Given the description of an element on the screen output the (x, y) to click on. 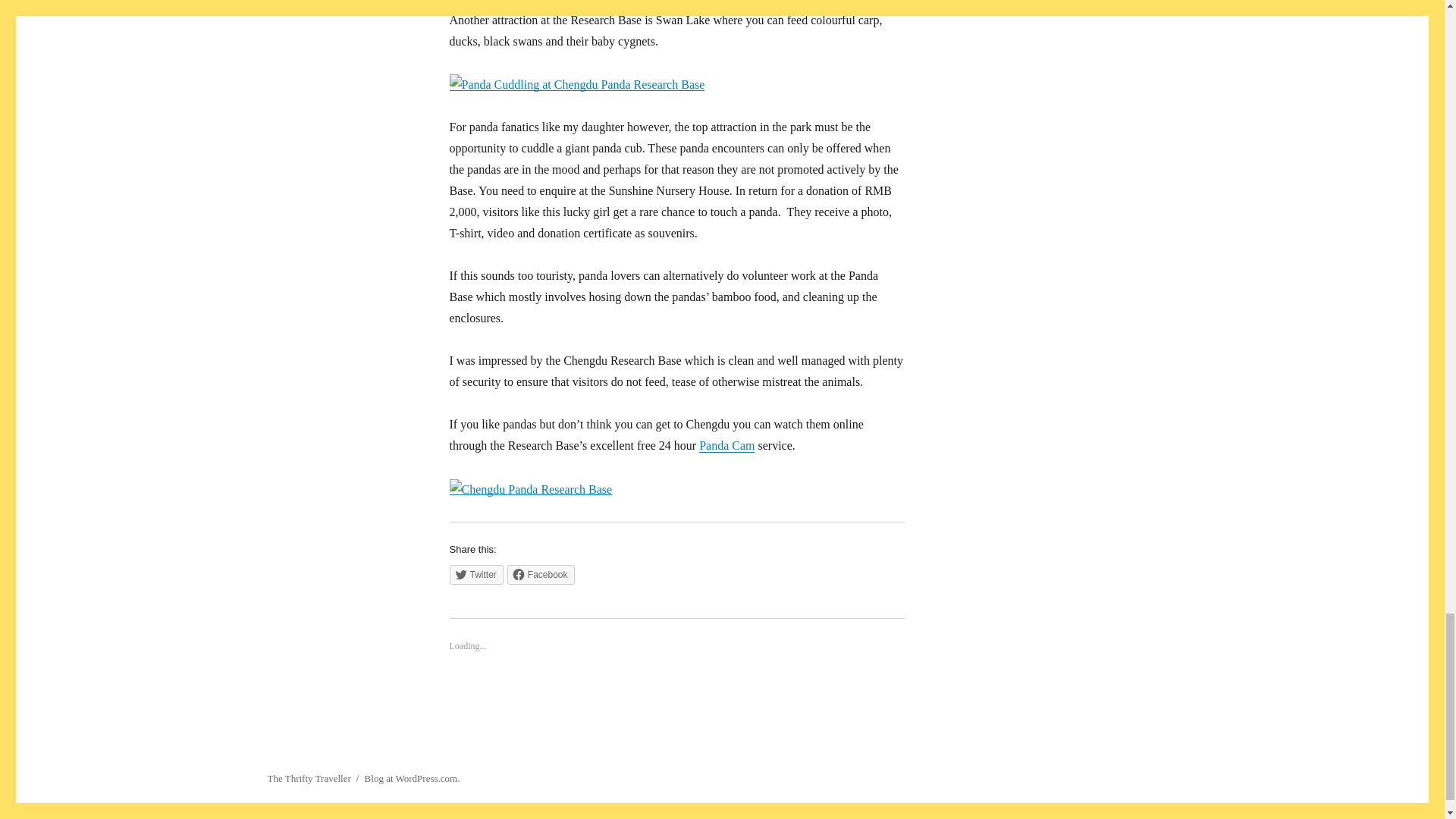
Click to share on Facebook (540, 574)
Chengdu Panda Research Base (529, 489)
Panda Cuddling at Chengdu Panda Research Base (576, 84)
Click to share on Twitter (475, 574)
